Given the description of an element on the screen output the (x, y) to click on. 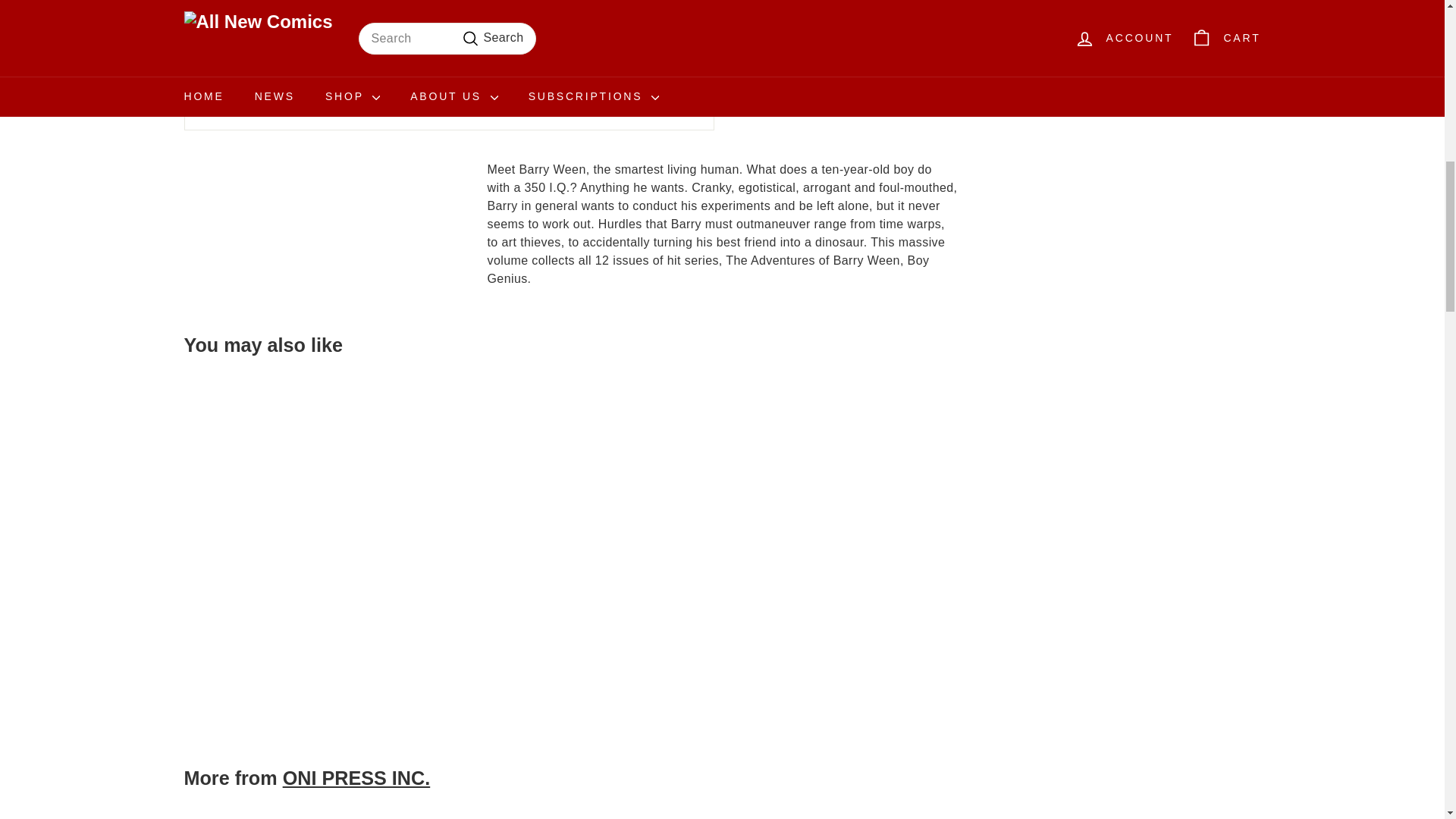
ONI PRESS INC. (356, 777)
